Given the description of an element on the screen output the (x, y) to click on. 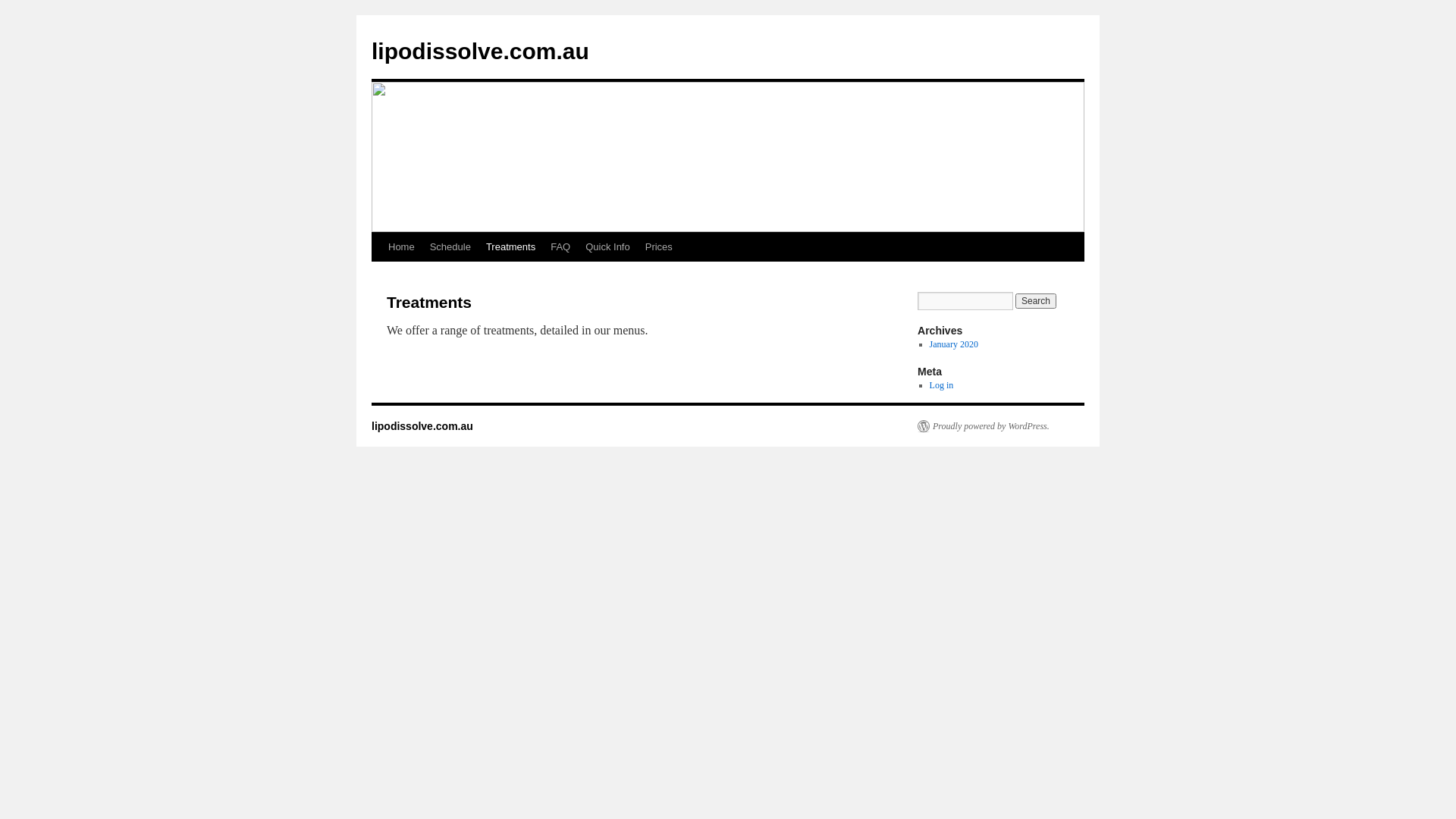
Proudly powered by WordPress. Element type: text (983, 426)
Home Element type: text (401, 246)
lipodissolve.com.au Element type: text (422, 426)
Search Element type: text (1035, 300)
Treatments Element type: text (510, 246)
lipodissolve.com.au Element type: text (480, 50)
Schedule Element type: text (450, 246)
Prices Element type: text (658, 246)
Quick Info Element type: text (607, 246)
Log in Element type: text (941, 384)
January 2020 Element type: text (953, 343)
FAQ Element type: text (559, 246)
